Given the description of an element on the screen output the (x, y) to click on. 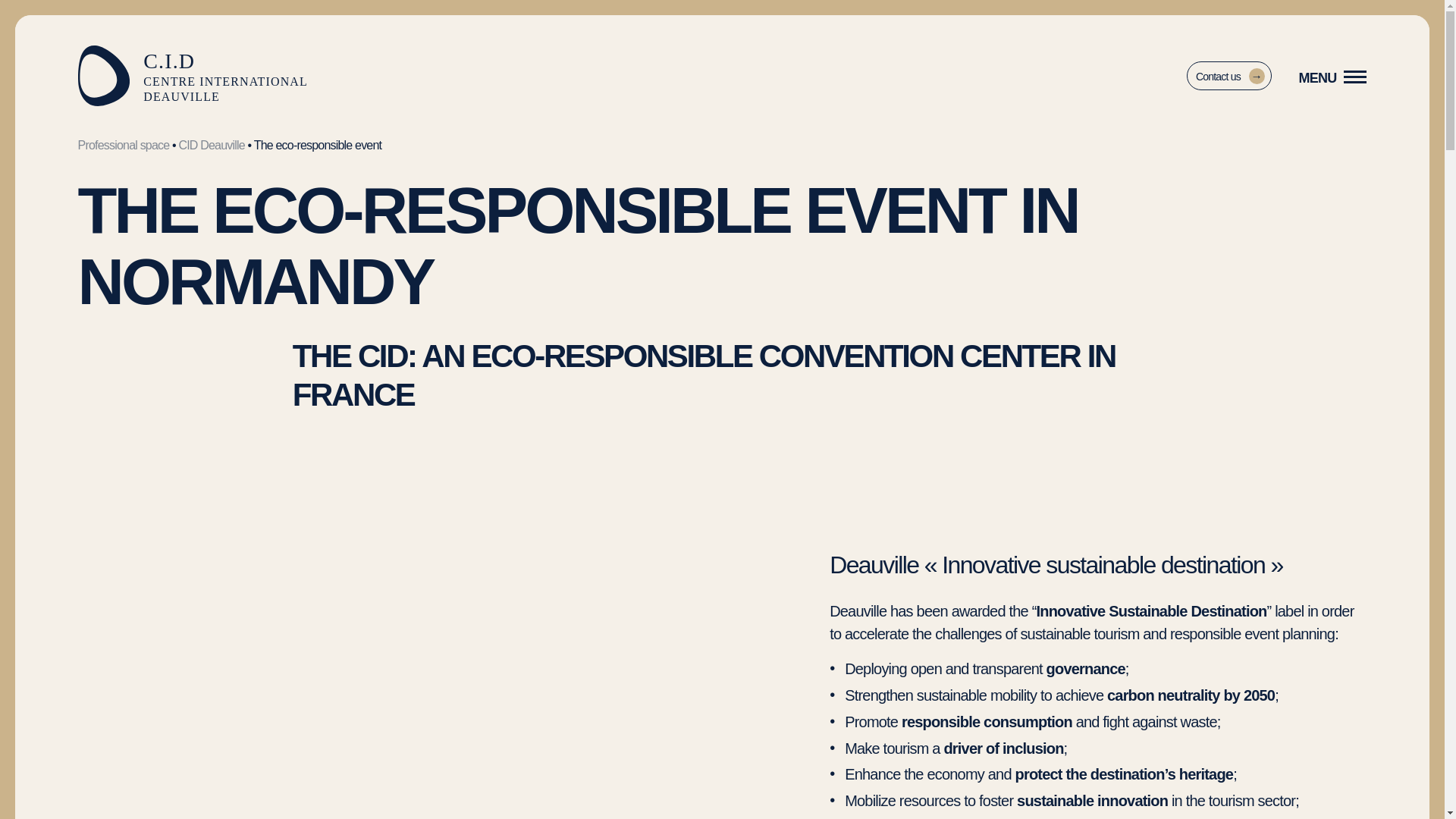
MENU (1332, 76)
Contact us (1228, 75)
Accueil du site (192, 75)
